Given the description of an element on the screen output the (x, y) to click on. 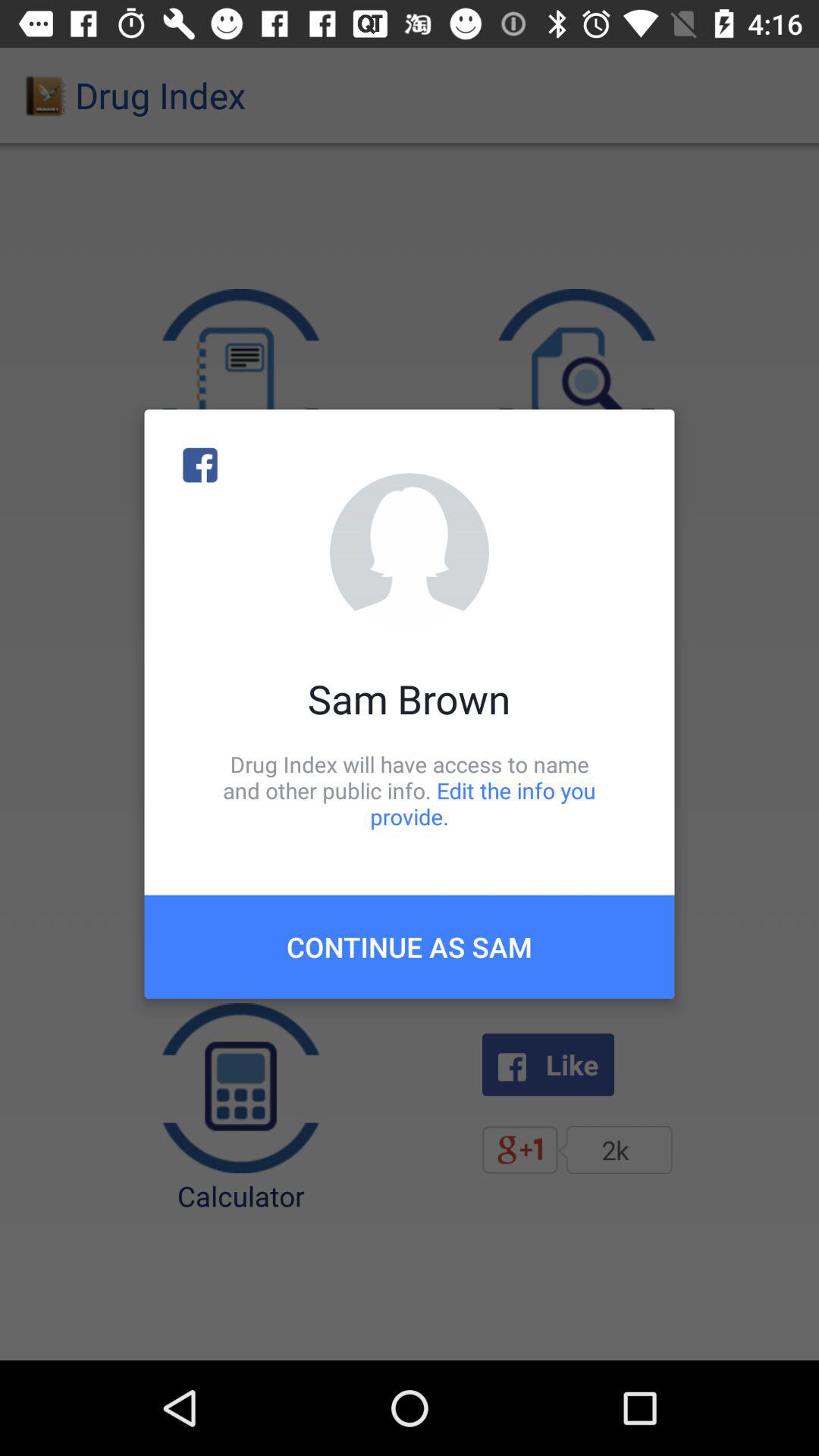
choose item below drug index will item (409, 946)
